Given the description of an element on the screen output the (x, y) to click on. 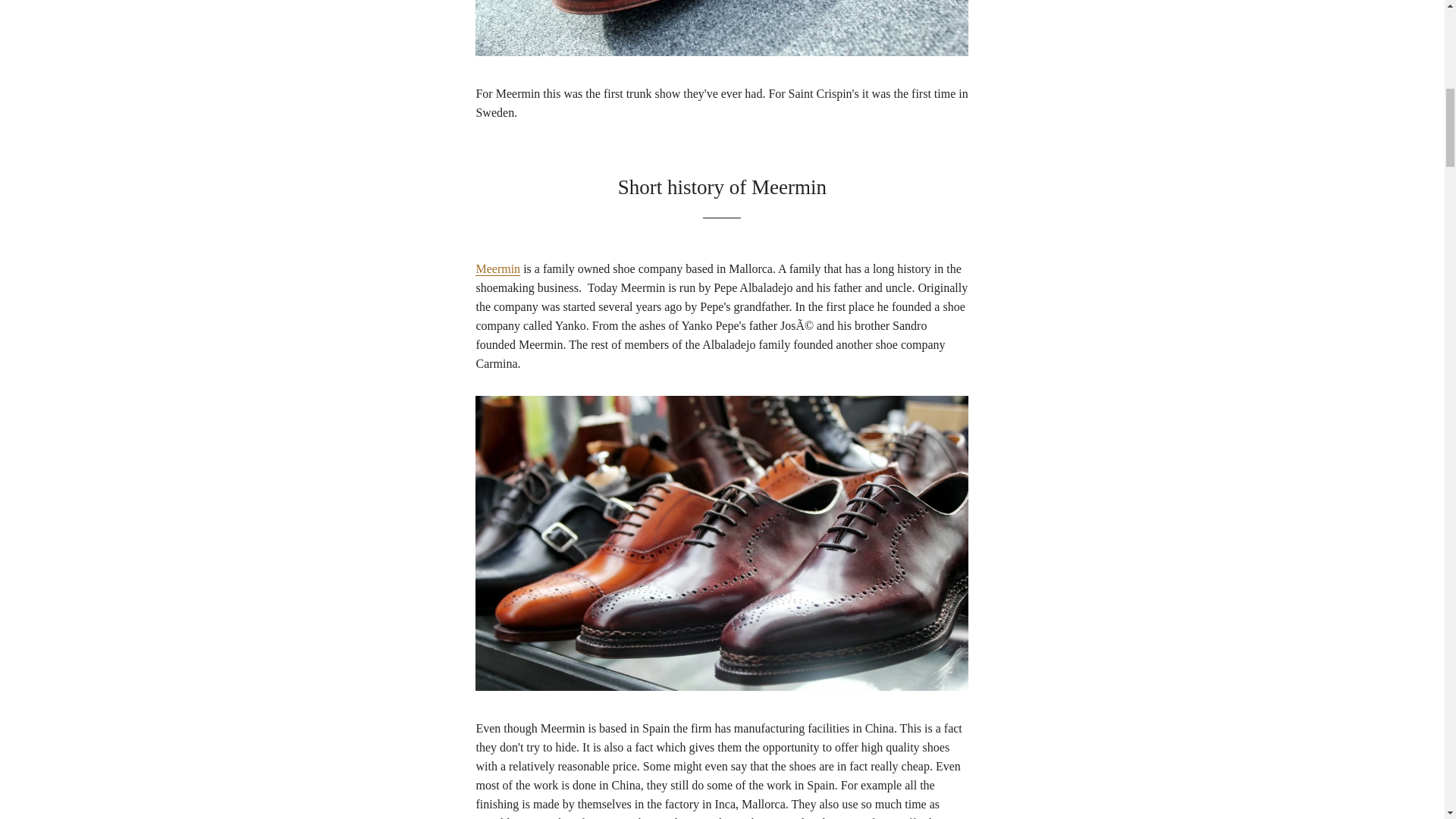
Meermin (497, 269)
